Given the description of an element on the screen output the (x, y) to click on. 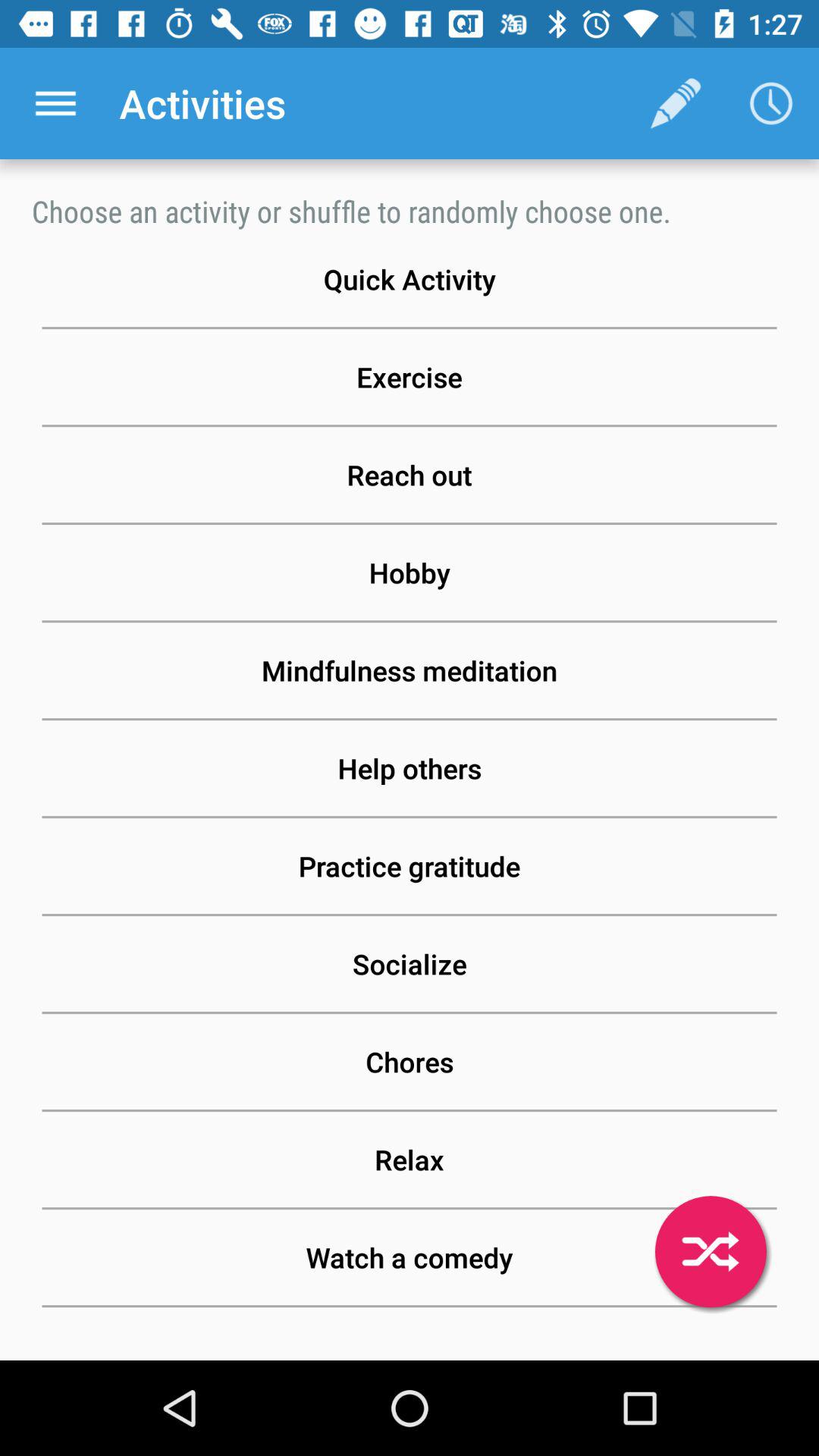
click the help others (409, 768)
